Given the description of an element on the screen output the (x, y) to click on. 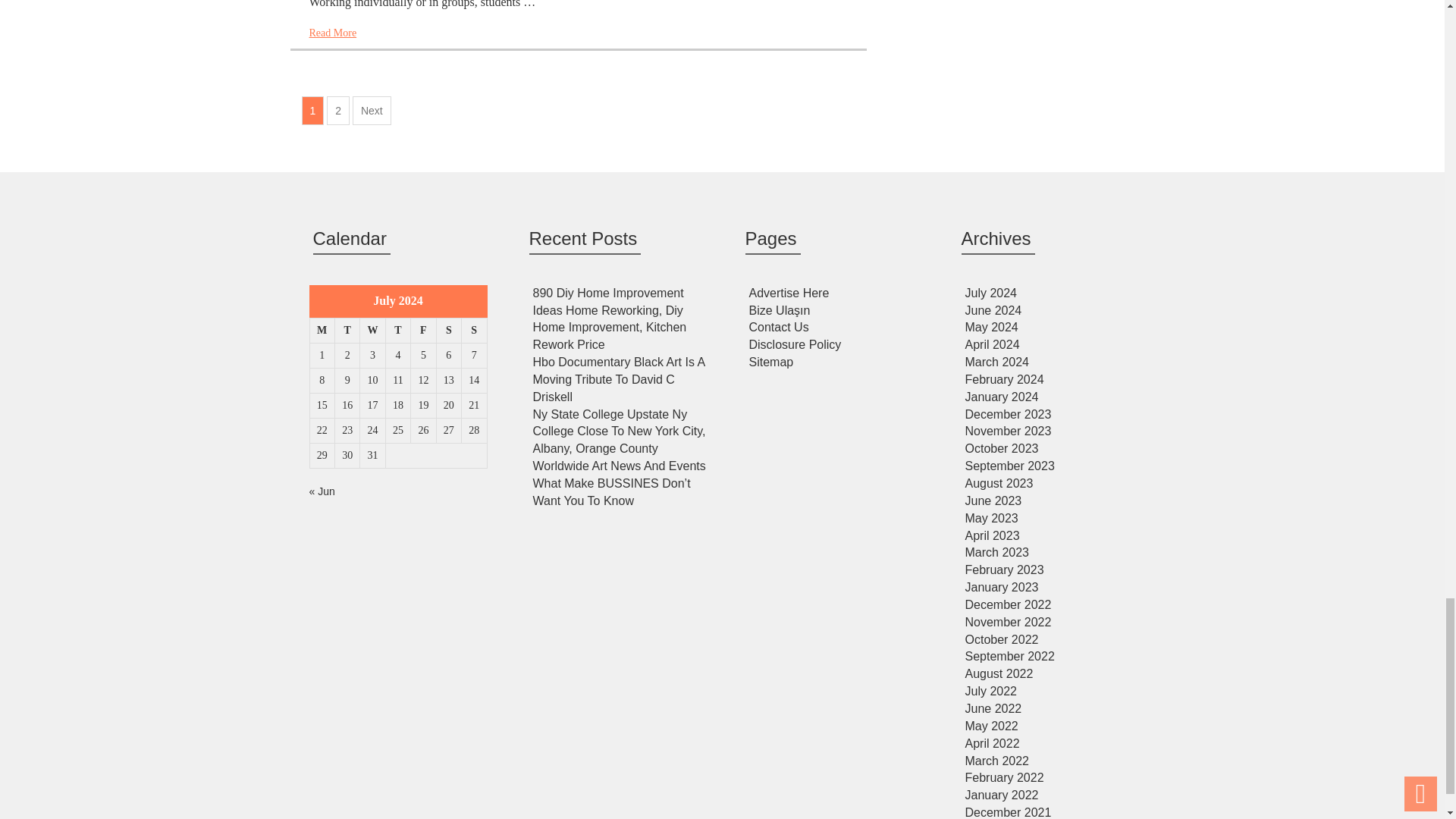
Saturday (448, 330)
Tuesday (346, 330)
Friday (422, 330)
Wednesday (372, 330)
Sunday (473, 330)
Thursday (397, 330)
Monday (321, 330)
